Given the description of an element on the screen output the (x, y) to click on. 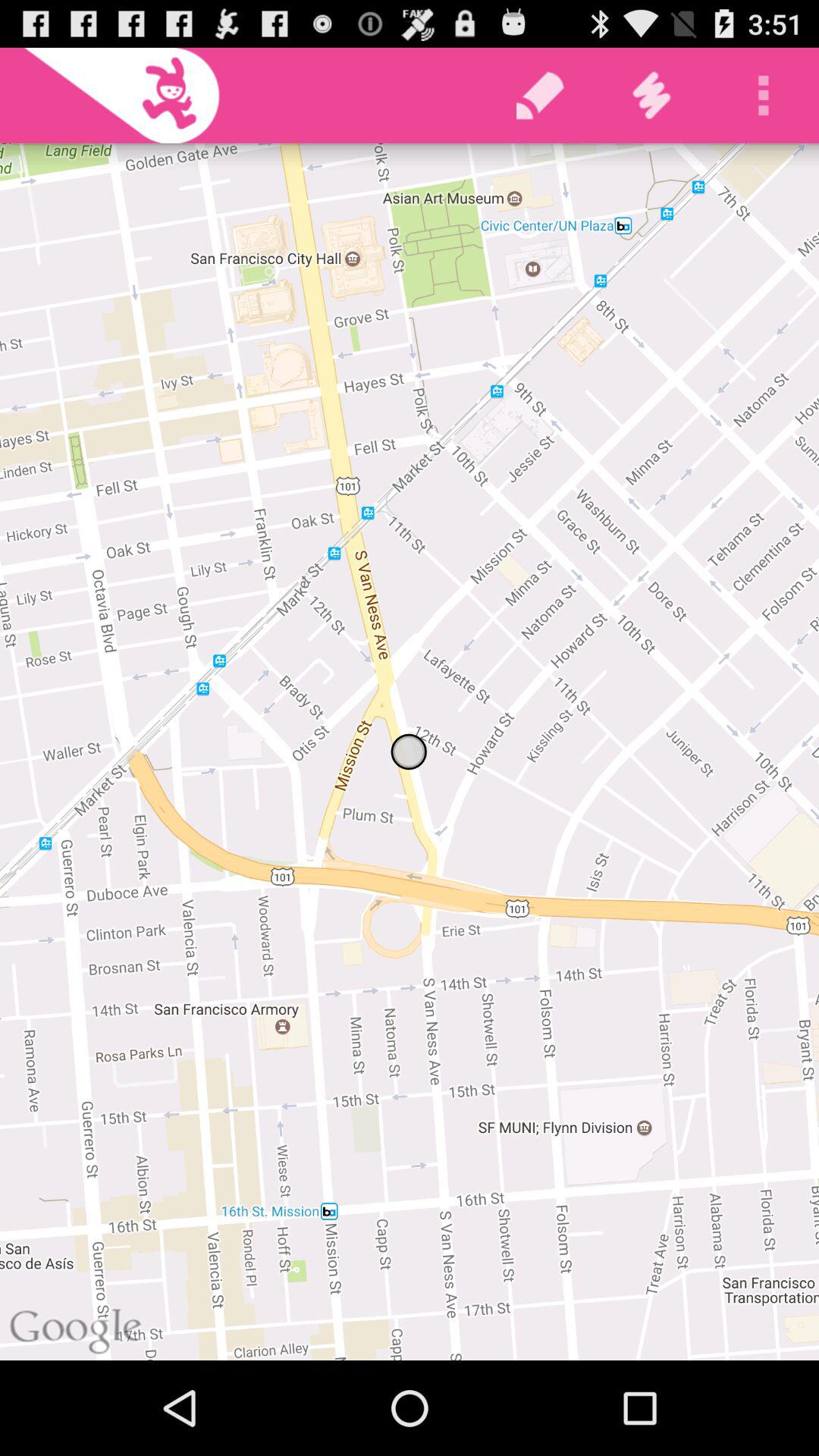
click the icon at the center (409, 751)
